Given the description of an element on the screen output the (x, y) to click on. 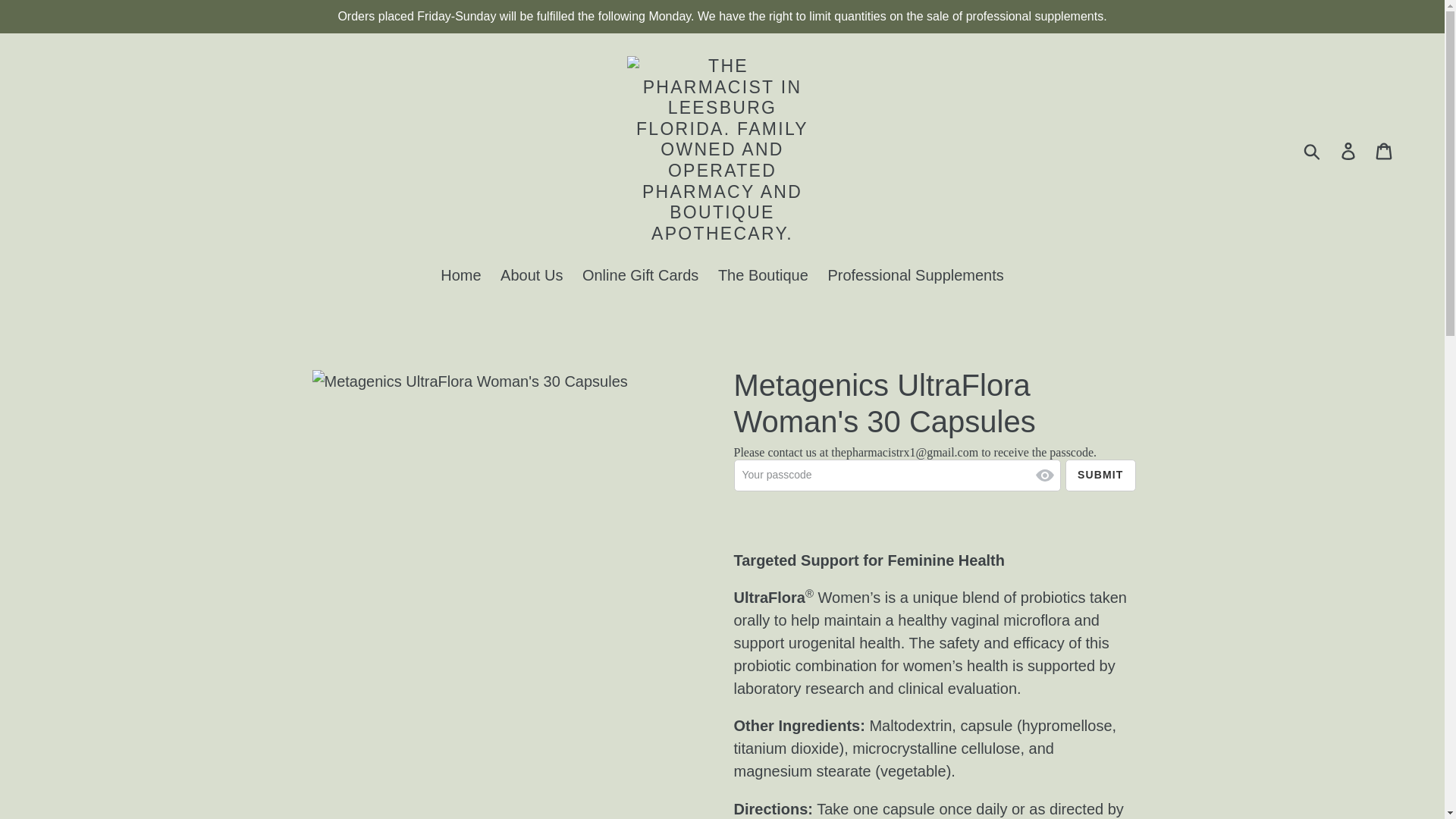
Online Gift Cards (640, 276)
Submit  (1100, 475)
Log in (1349, 149)
Professional Supplements (914, 276)
The Boutique (762, 276)
Submit (1313, 149)
Cart (1385, 149)
Home (459, 276)
About Us (531, 276)
Submit  (1100, 475)
